Given the description of an element on the screen output the (x, y) to click on. 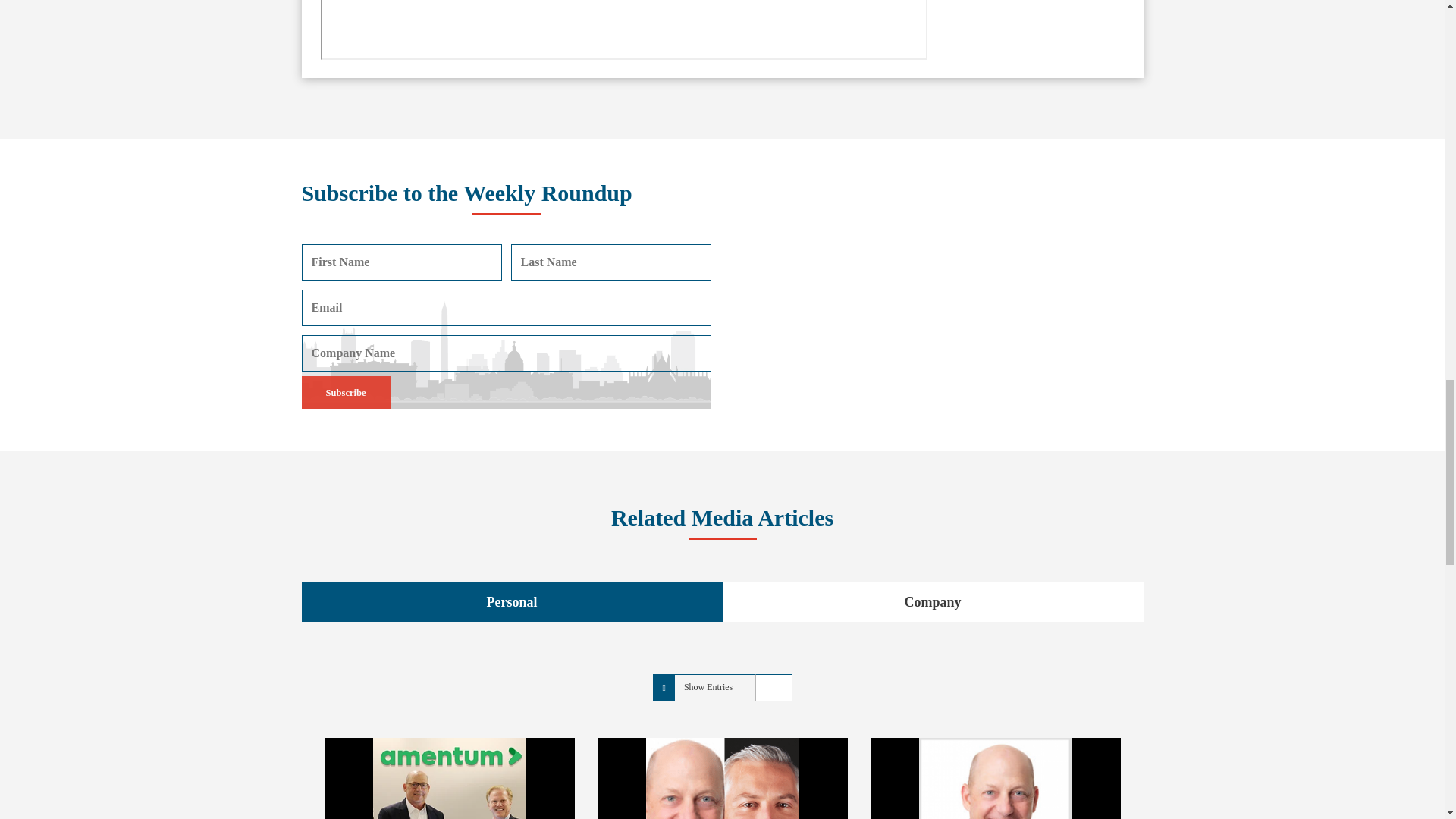
Subscribe (345, 392)
Video Testimonials (937, 294)
GovConWire (623, 29)
